Given the description of an element on the screen output the (x, y) to click on. 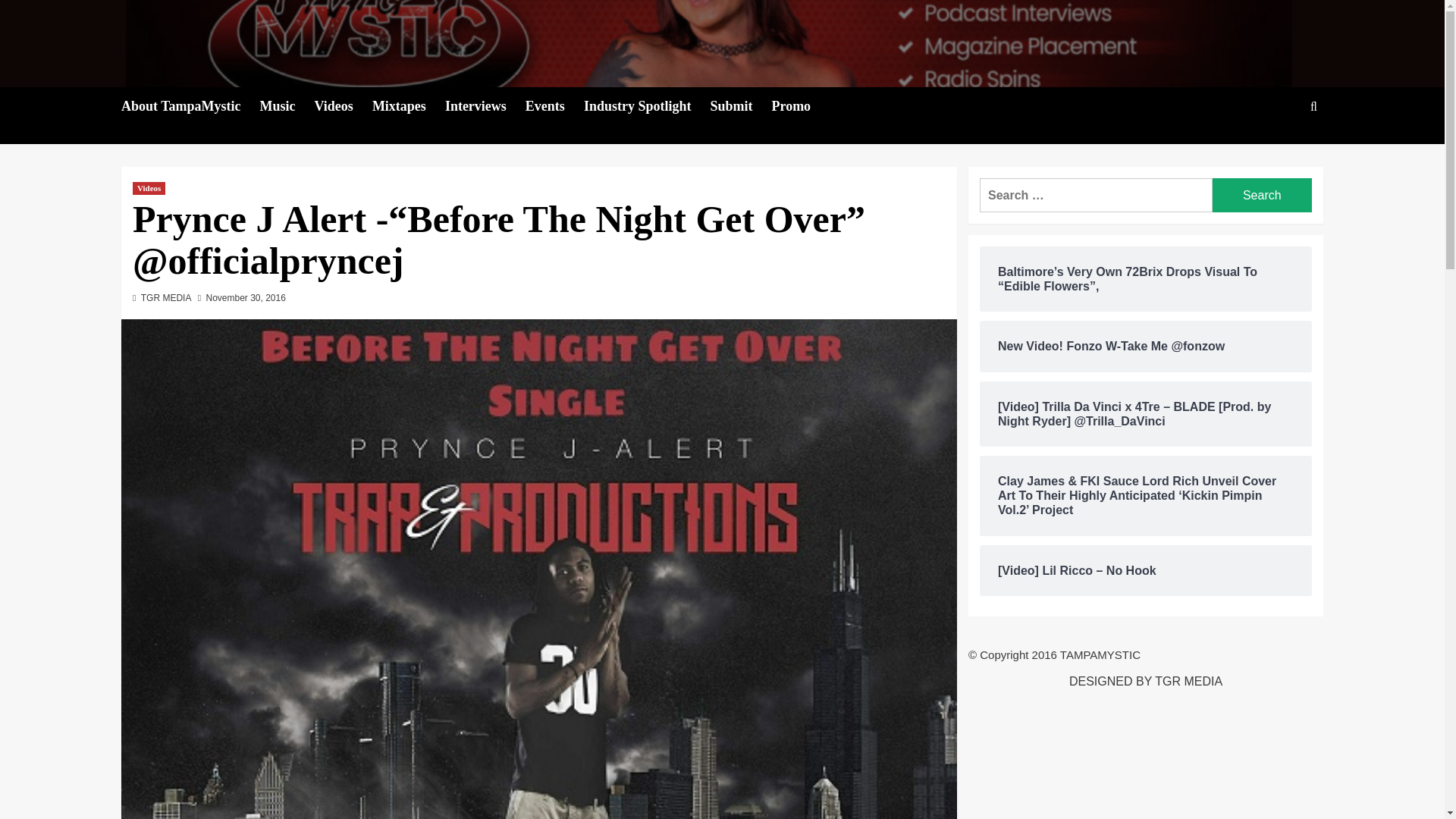
About TampaMystic (190, 106)
Industry Spotlight (646, 106)
Videos (343, 106)
Search (1278, 153)
Videos (148, 187)
Search (1261, 195)
TGR MEDIA (166, 297)
Submit (740, 106)
Mixtapes (408, 106)
Promo (800, 106)
November 30, 2016 (245, 297)
Search (1261, 195)
Search (1261, 195)
Events (554, 106)
Music (287, 106)
